Given the description of an element on the screen output the (x, y) to click on. 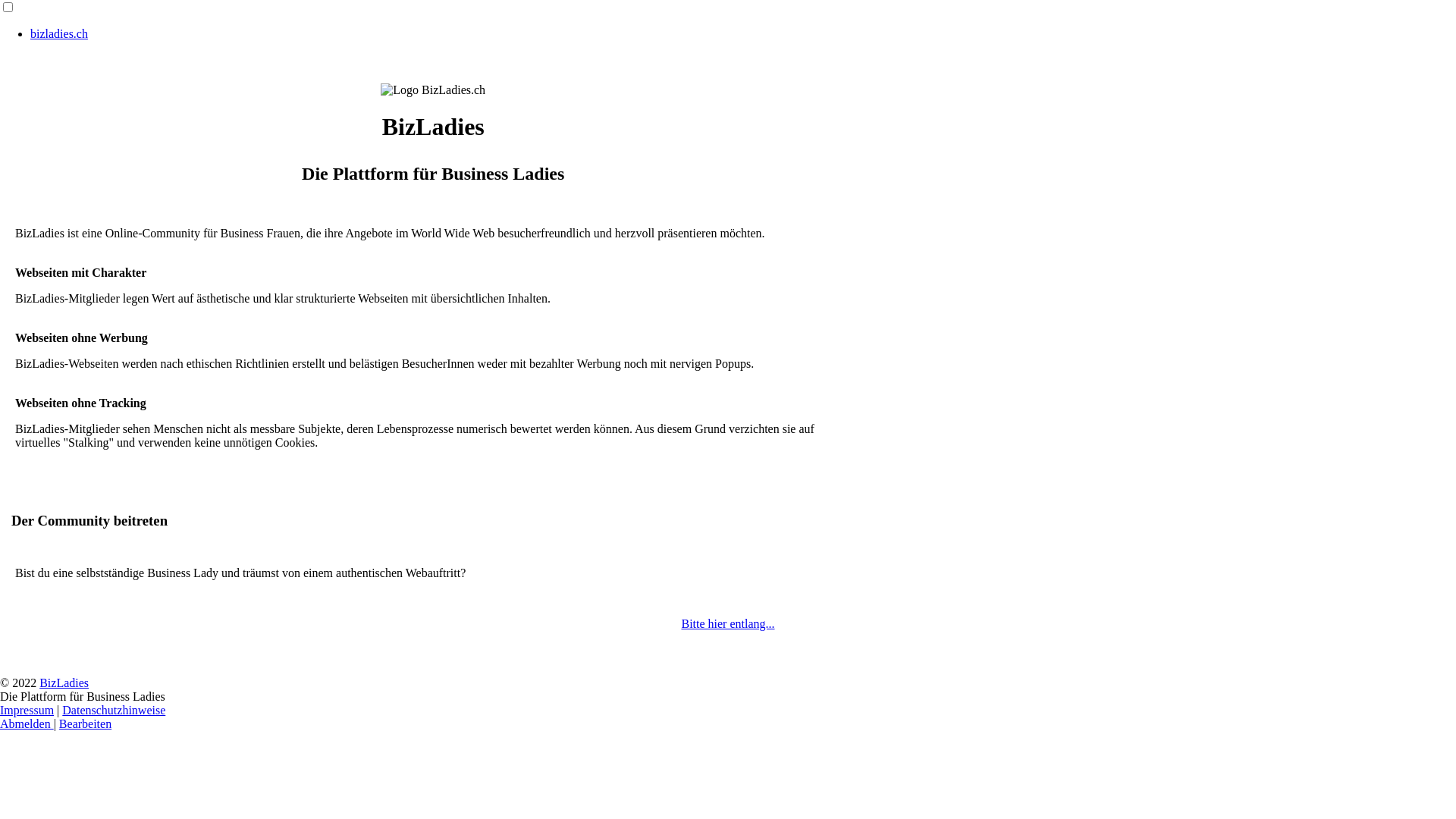
Bearbeiten Element type: text (85, 723)
Abmelden Element type: text (26, 723)
Impressum Element type: text (26, 709)
Datenschutzhinweise Element type: text (113, 709)
BizLadies Element type: text (63, 682)
bizladies.ch Element type: text (58, 33)
Bitte hier entlang... Element type: text (727, 623)
